Given the description of an element on the screen output the (x, y) to click on. 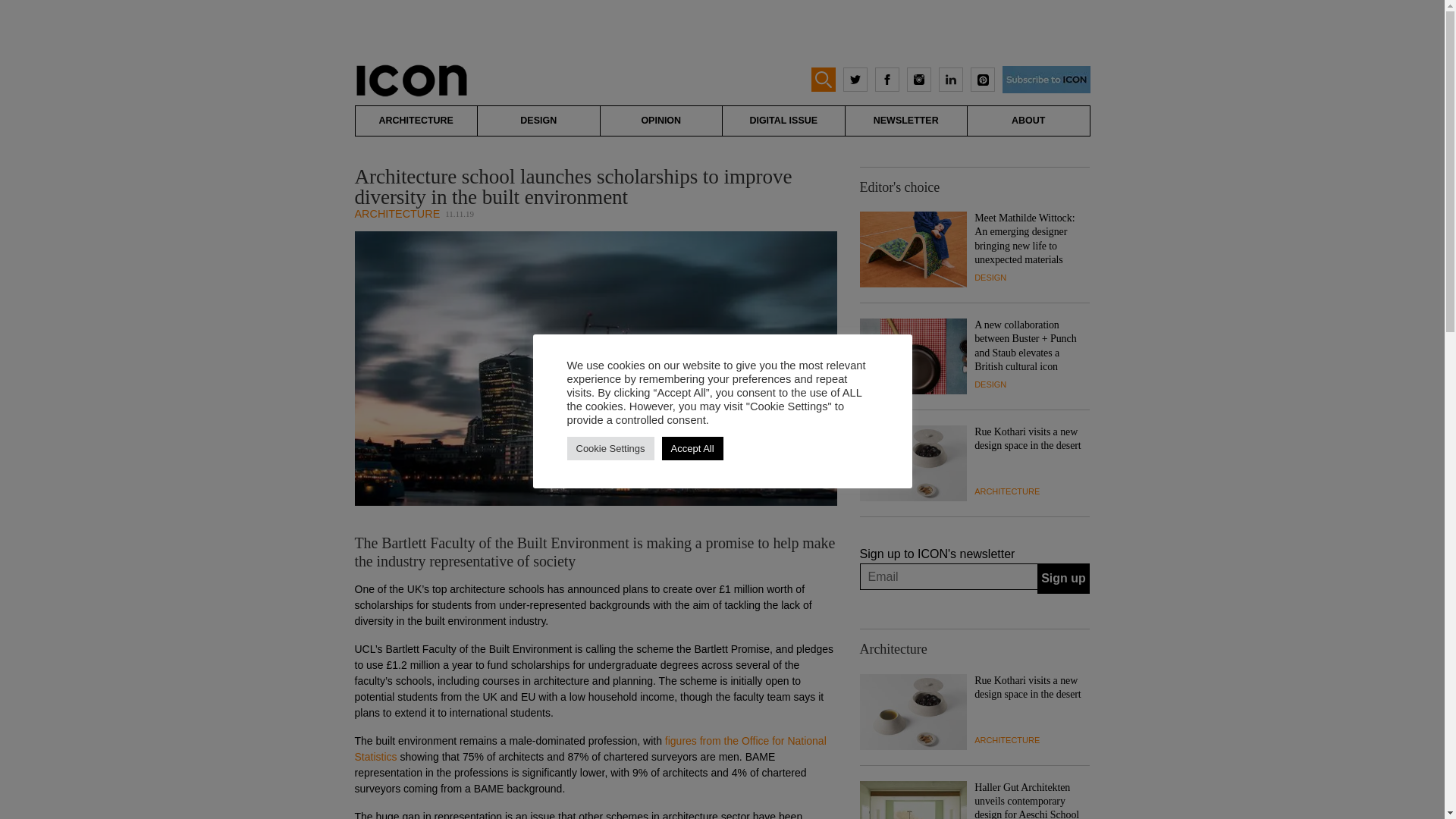
ABOUT (1028, 120)
DESIGN (538, 120)
DESIGN (990, 384)
Sign up (1062, 578)
ARCHITECTURE (398, 214)
DESIGN (990, 276)
ARCHITECTURE (416, 120)
DIGITAL ISSUE (783, 120)
Search (25, 9)
NEWSLETTER (905, 120)
